Given the description of an element on the screen output the (x, y) to click on. 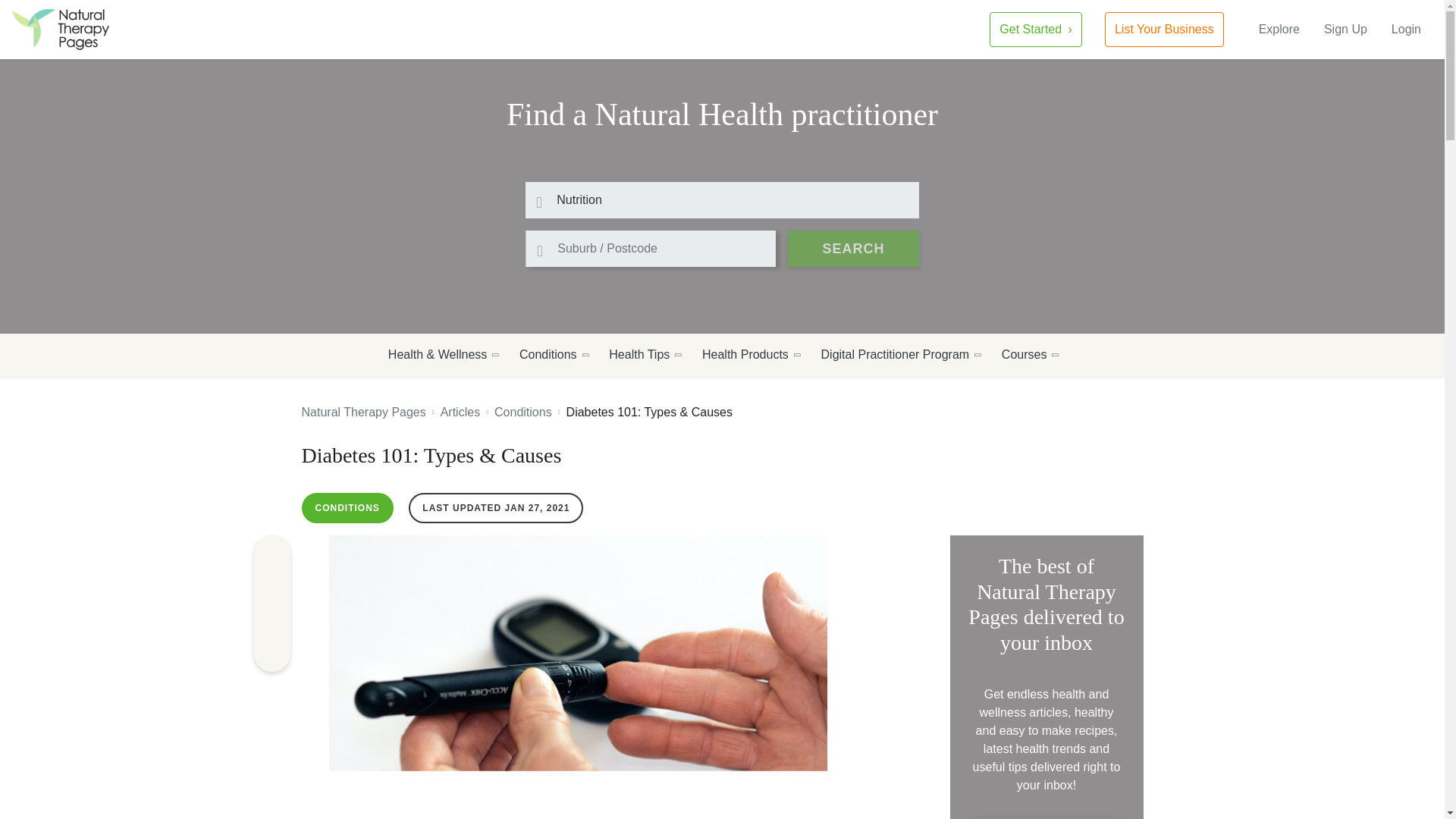
global.social.sharePinterest (271, 586)
global.social.shareTwitter (271, 620)
List Your Business (1164, 28)
Nutrition (721, 199)
Nutrition (721, 199)
Sign Up (1344, 29)
Login (1405, 29)
global.social.shareEmail (271, 653)
Explore (1278, 29)
global.social.shareFacebook (271, 553)
